Given the description of an element on the screen output the (x, y) to click on. 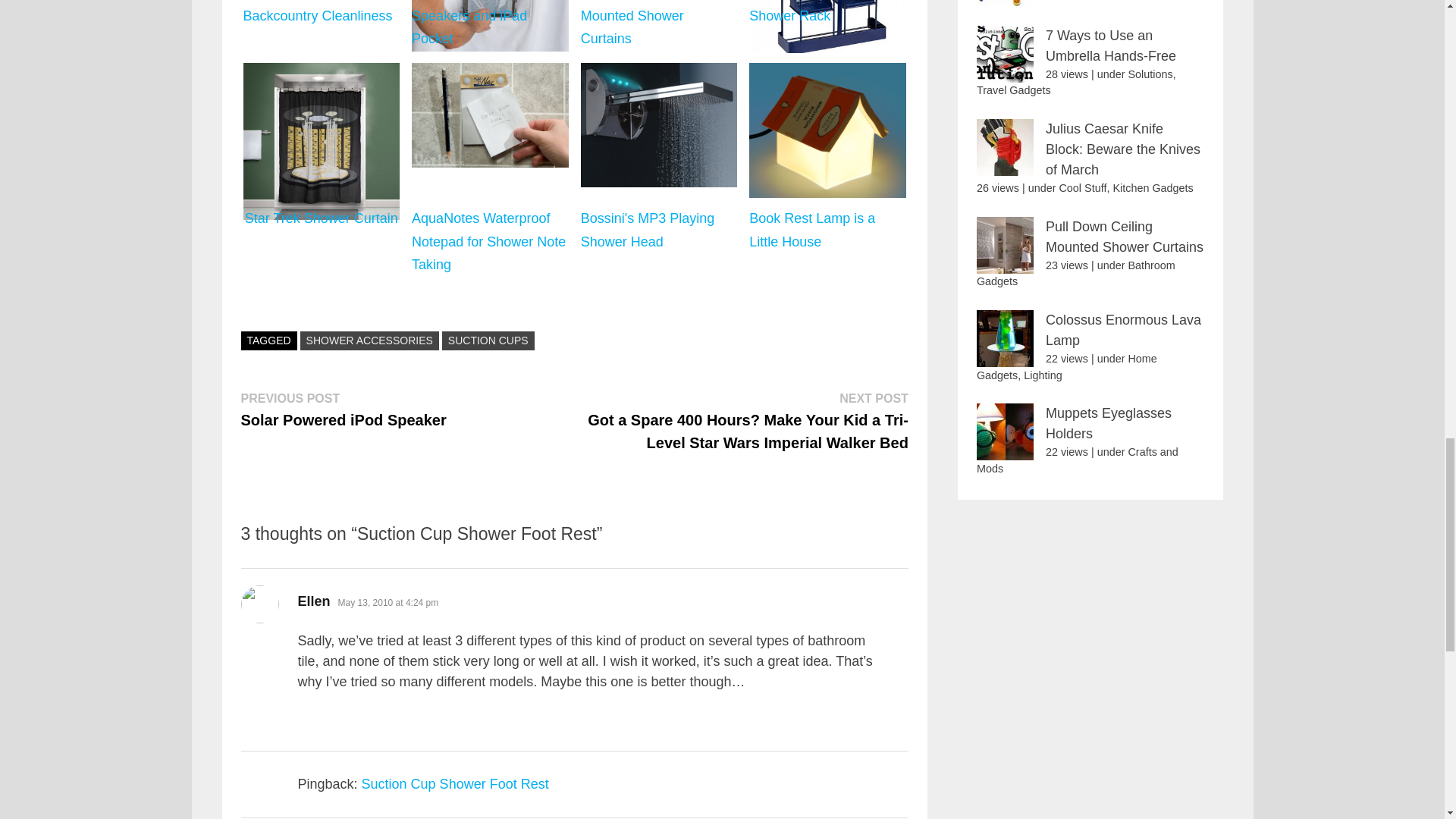
Doctor Who TARDIS Shower Rack (827, 26)
Pocket Shower for Backcountry Cleanliness (343, 409)
Pull Down Ceiling Mounted Shower Curtains (322, 26)
SUCTION CUPS (658, 26)
Shower Curtain with Speakers and iPad Pocket (488, 340)
SHOWER ACCESSORIES (489, 26)
